Given the description of an element on the screen output the (x, y) to click on. 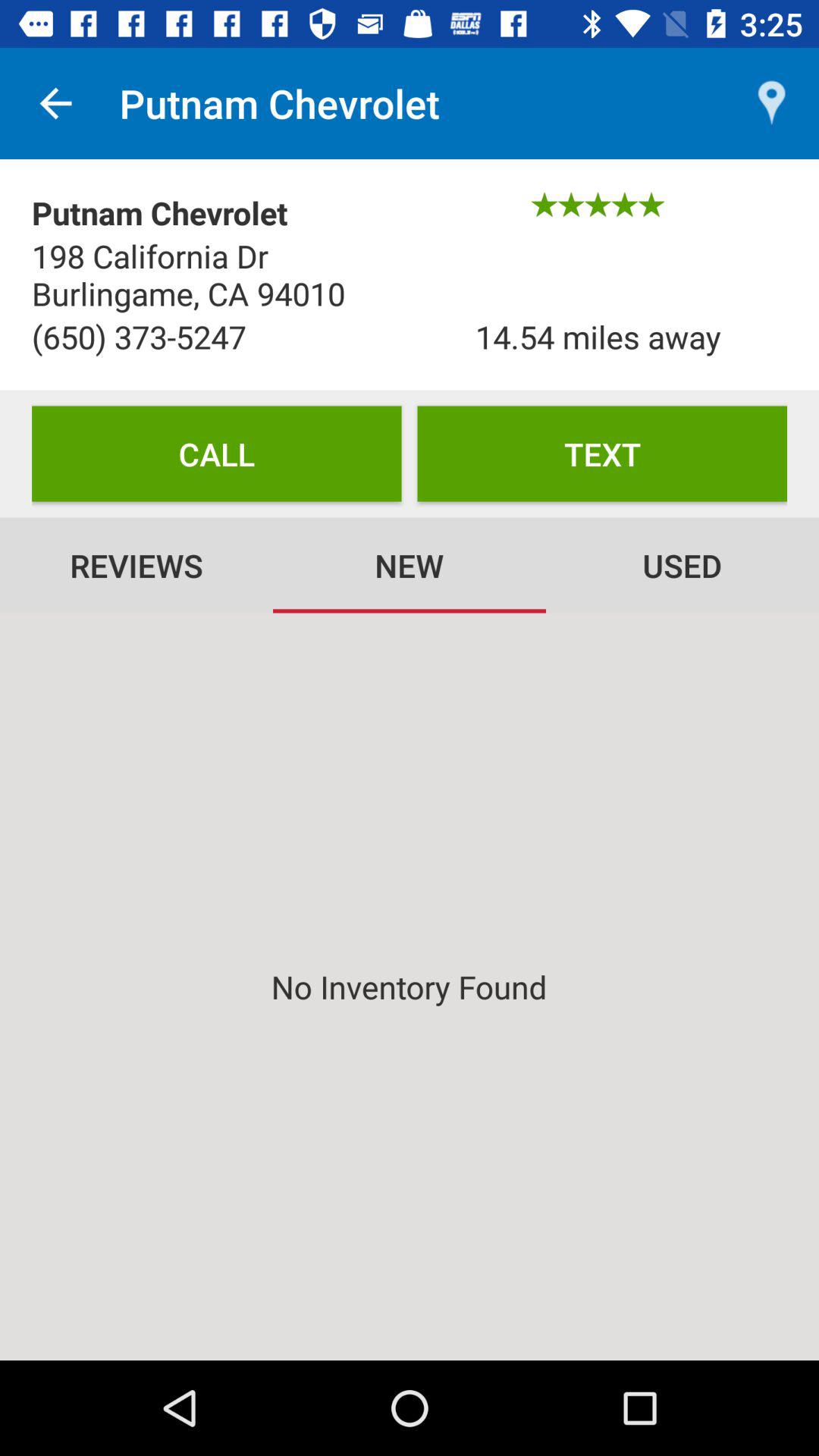
press the icon above the reviews item (216, 453)
